Given the description of an element on the screen output the (x, y) to click on. 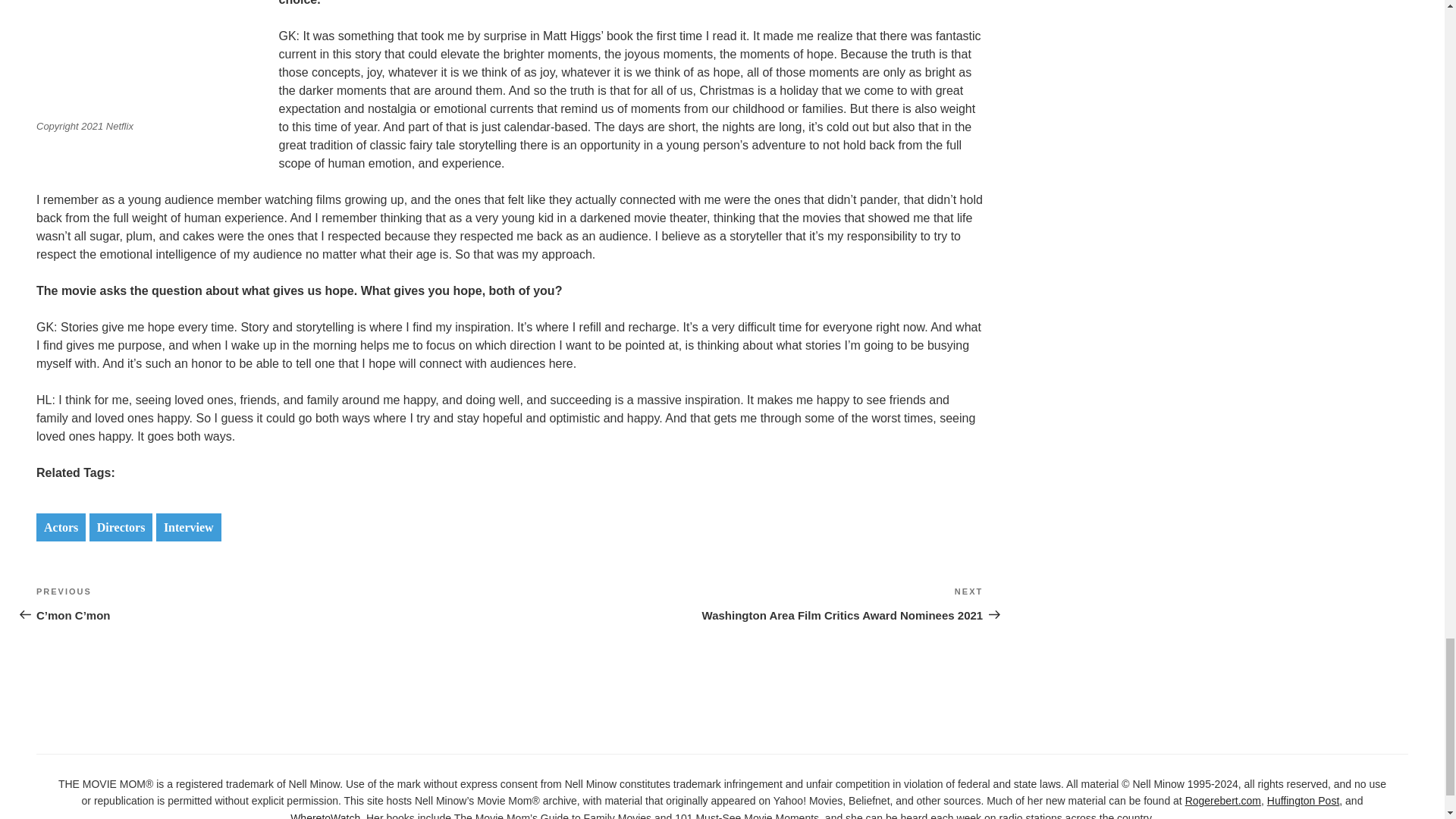
Interview (188, 527)
Huffington Post (1302, 800)
WheretoWatch (324, 815)
Rogerebert.com (1222, 800)
Actors (60, 527)
Directors (120, 527)
